Given the description of an element on the screen output the (x, y) to click on. 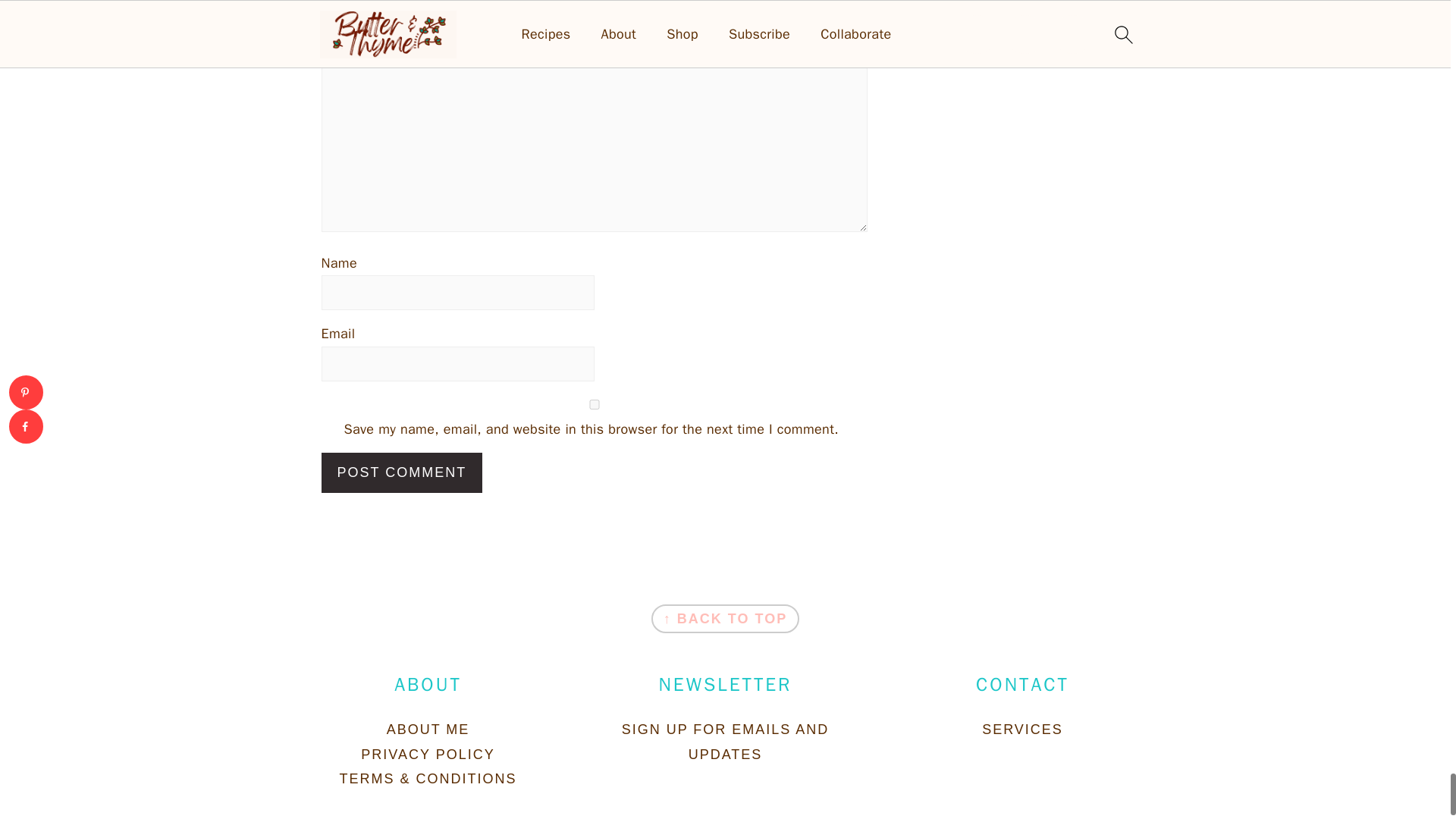
yes (594, 404)
Post Comment (402, 472)
